Given the description of an element on the screen output the (x, y) to click on. 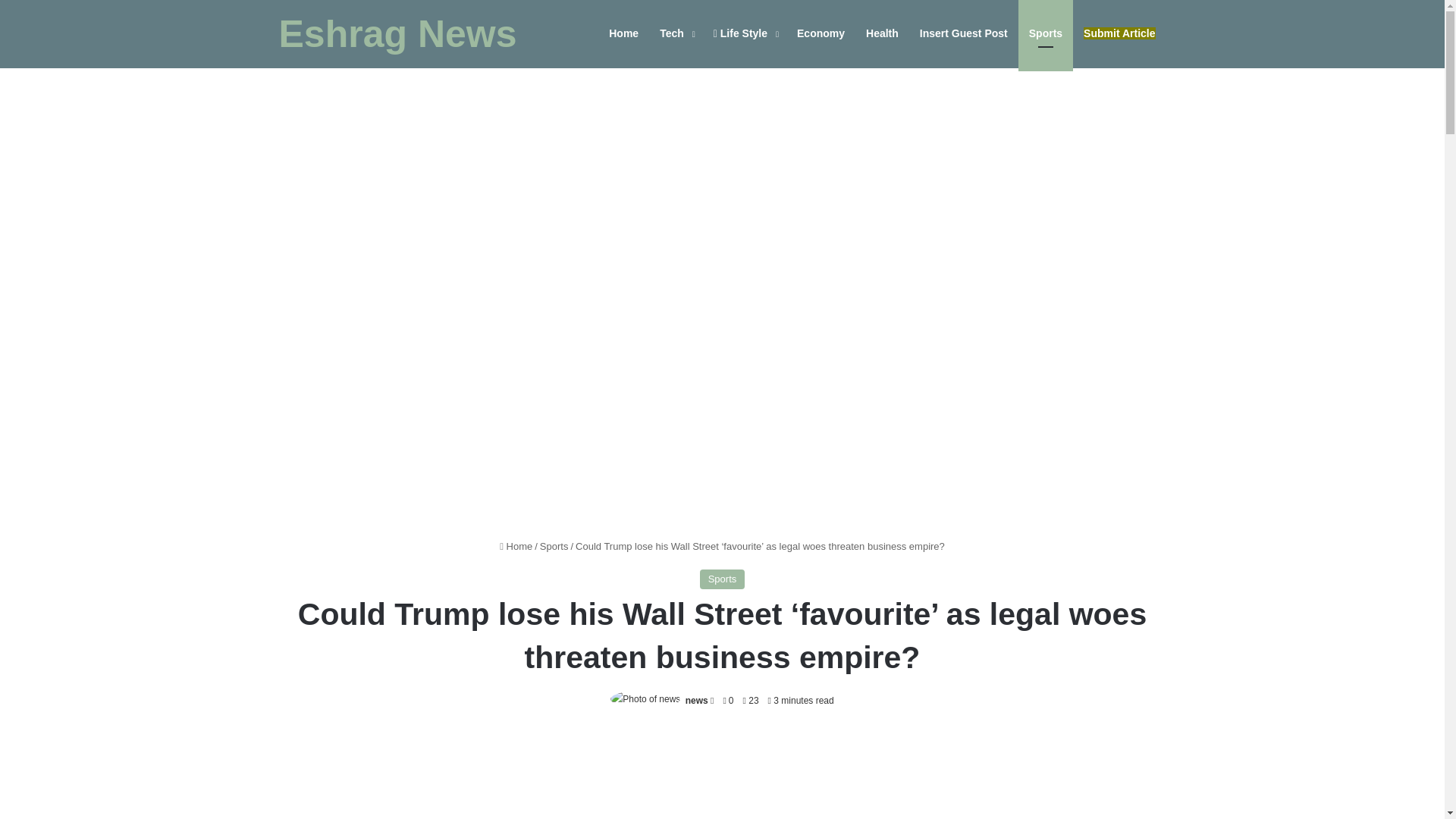
Home (623, 33)
Insert Guest Post (962, 33)
Eshrag News (397, 34)
Submit Article (1119, 33)
news (696, 700)
Sports (1045, 33)
Life Style (744, 33)
Eshrag News (397, 34)
Sports (554, 546)
Health (882, 33)
Home (515, 546)
